Given the description of an element on the screen output the (x, y) to click on. 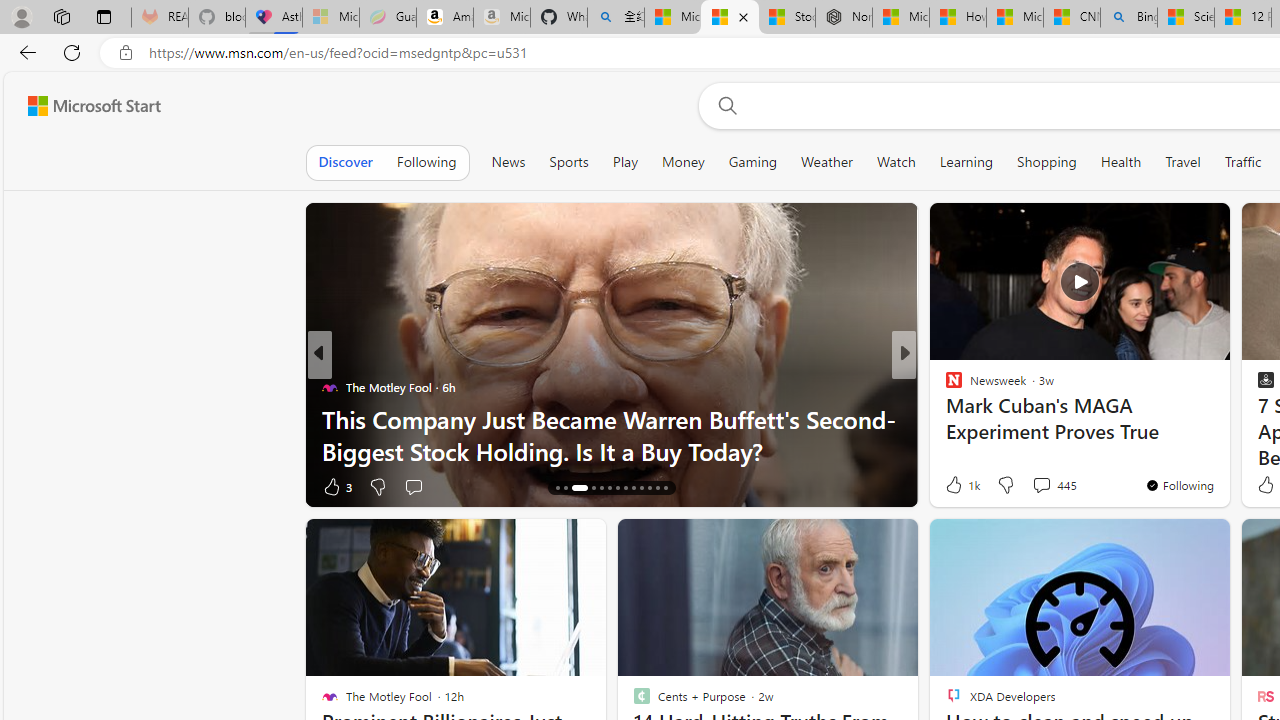
PC World (944, 386)
View comments 40 Comment (1042, 485)
View comments 88 Comment (1051, 486)
View comments 445 Comment (1053, 484)
103 Like (959, 486)
AutomationID: tab-20 (617, 487)
